Given the description of an element on the screen output the (x, y) to click on. 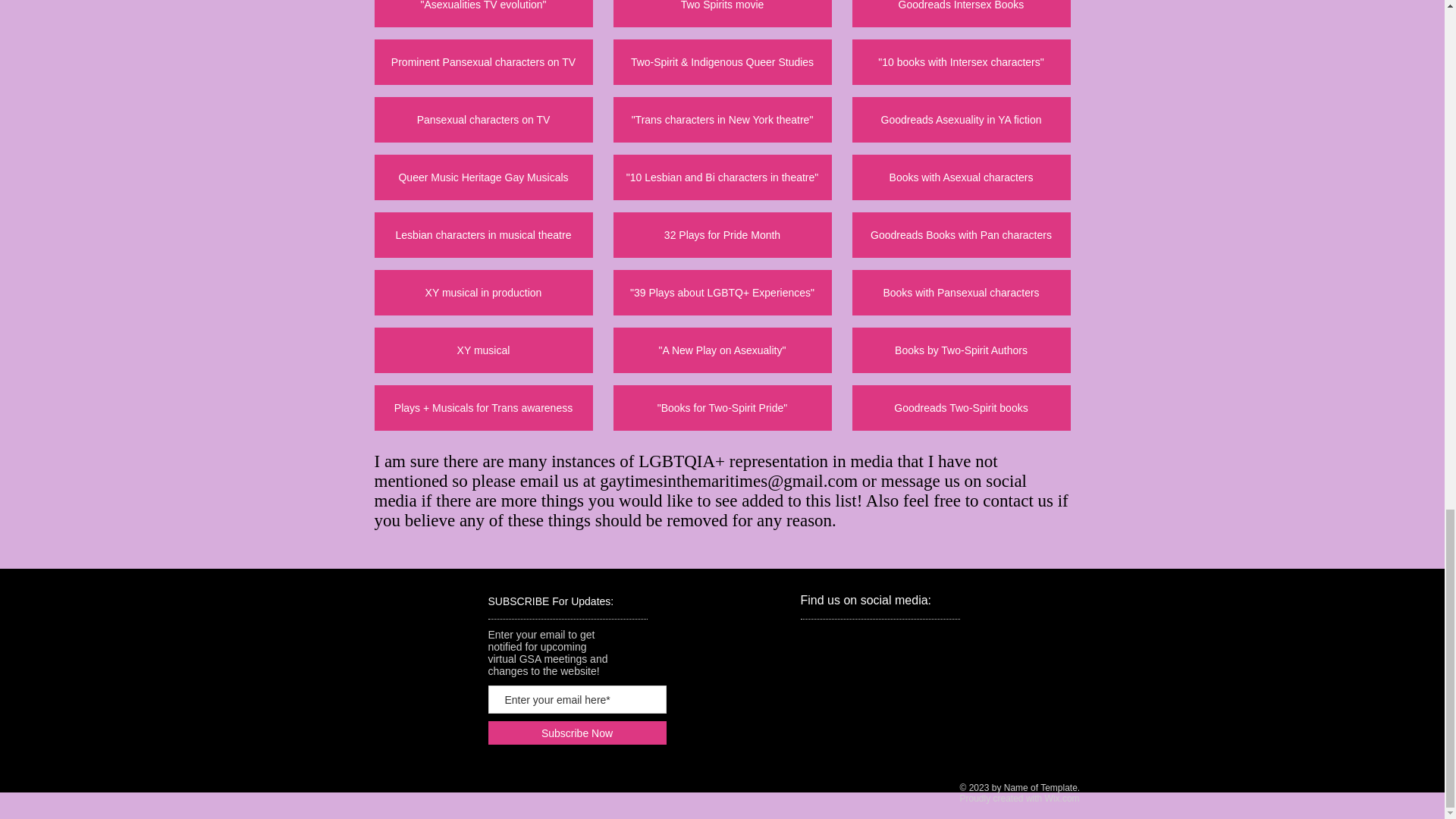
"Asexualities TV evolution" (483, 13)
Prominent Pansexual characters on TV (483, 62)
Pansexual characters on TV (483, 119)
XY musical (483, 350)
Queer Music Heritage Gay Musicals (483, 176)
XY musical in production (483, 292)
